Given the description of an element on the screen output the (x, y) to click on. 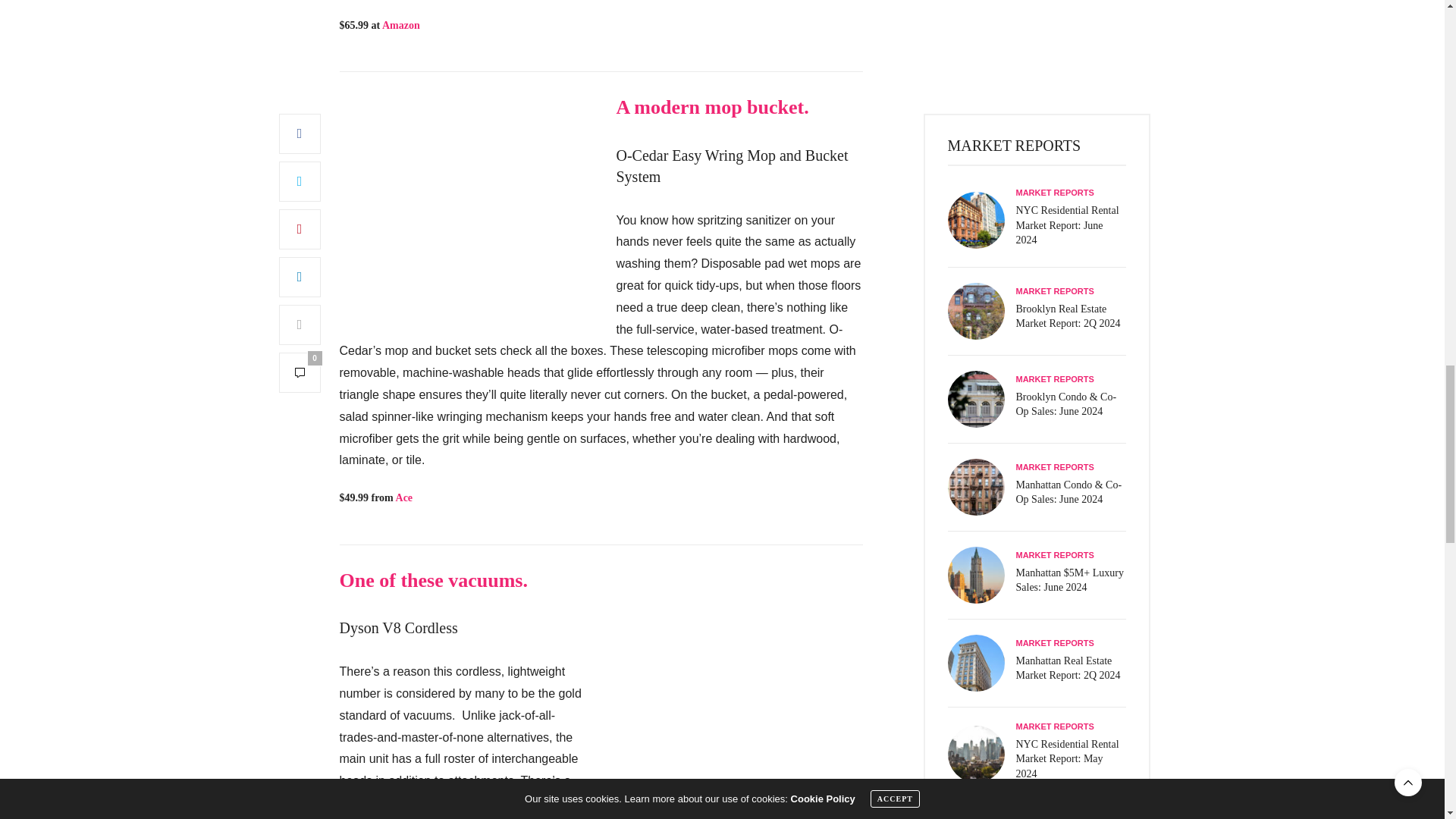
Ace (404, 497)
One of these vacuums. (433, 580)
Amazon (400, 25)
A modern mop bucket. (711, 106)
